Given the description of an element on the screen output the (x, y) to click on. 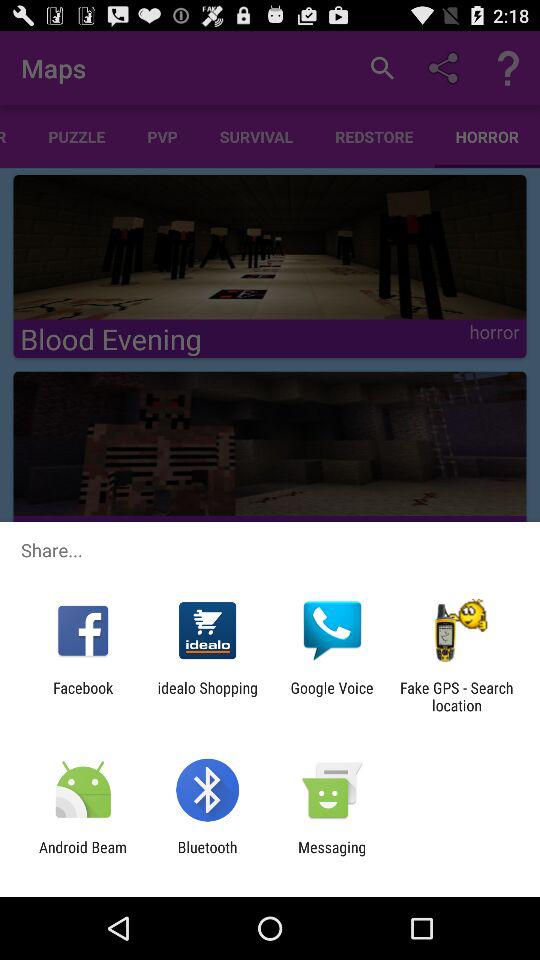
click icon next to the google voice icon (207, 696)
